Given the description of an element on the screen output the (x, y) to click on. 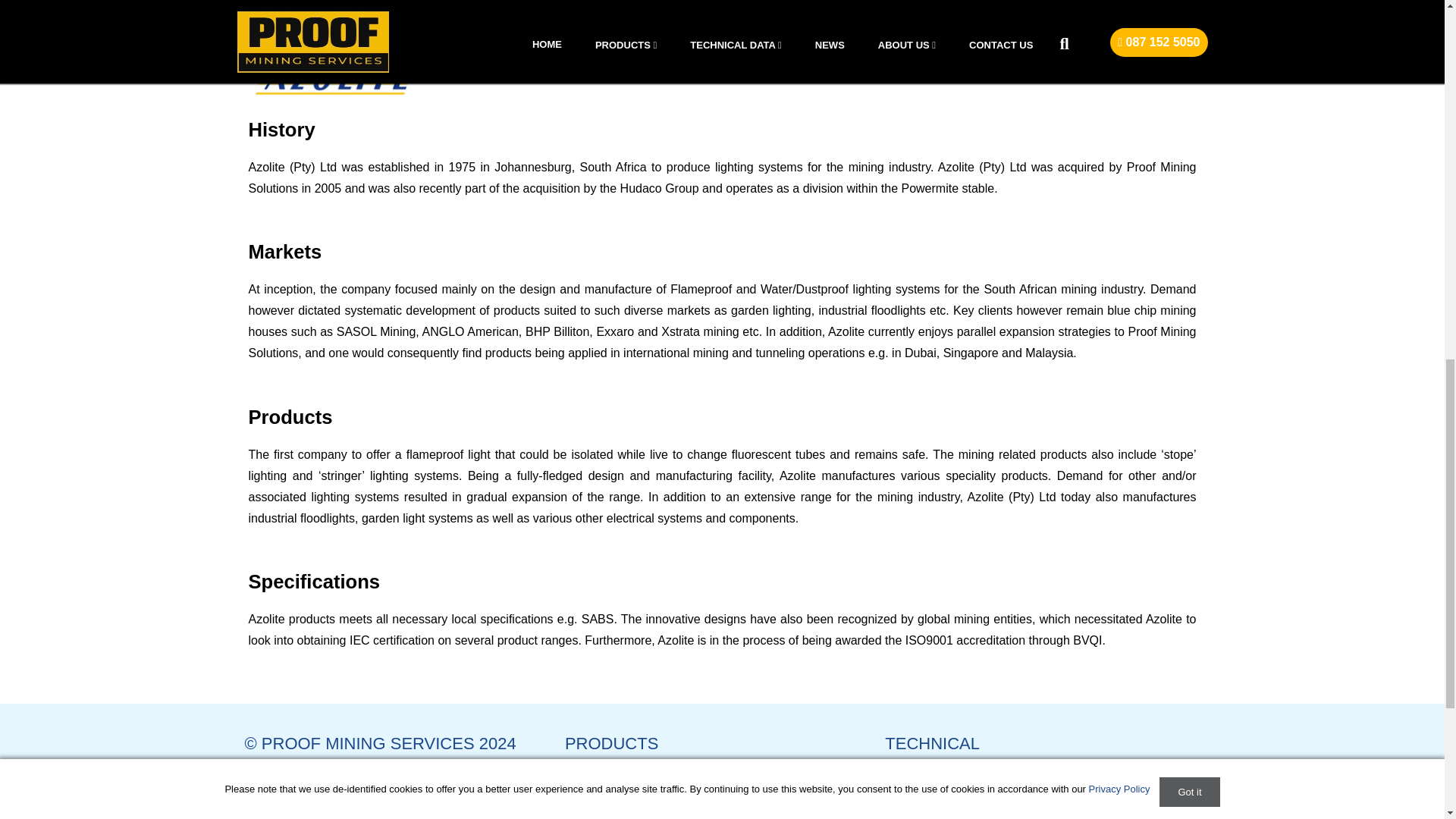
Open Cast Products (619, 810)
Brochures (271, 810)
Disclaimer (913, 810)
Flameproof Products (621, 790)
About us (268, 790)
B-BBEE Certificate (936, 790)
